Given the description of an element on the screen output the (x, y) to click on. 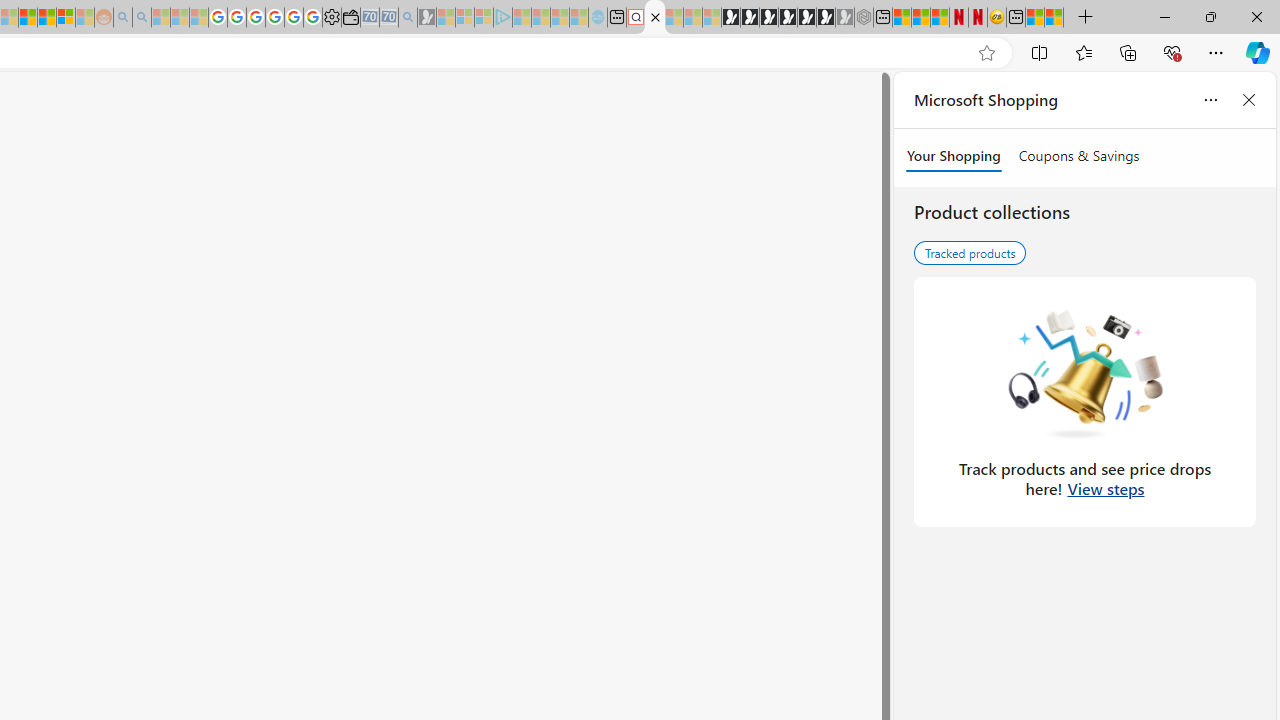
Expert Portfolios (28, 17)
Kinda Frugal - MSN (47, 17)
